Given the description of an element on the screen output the (x, y) to click on. 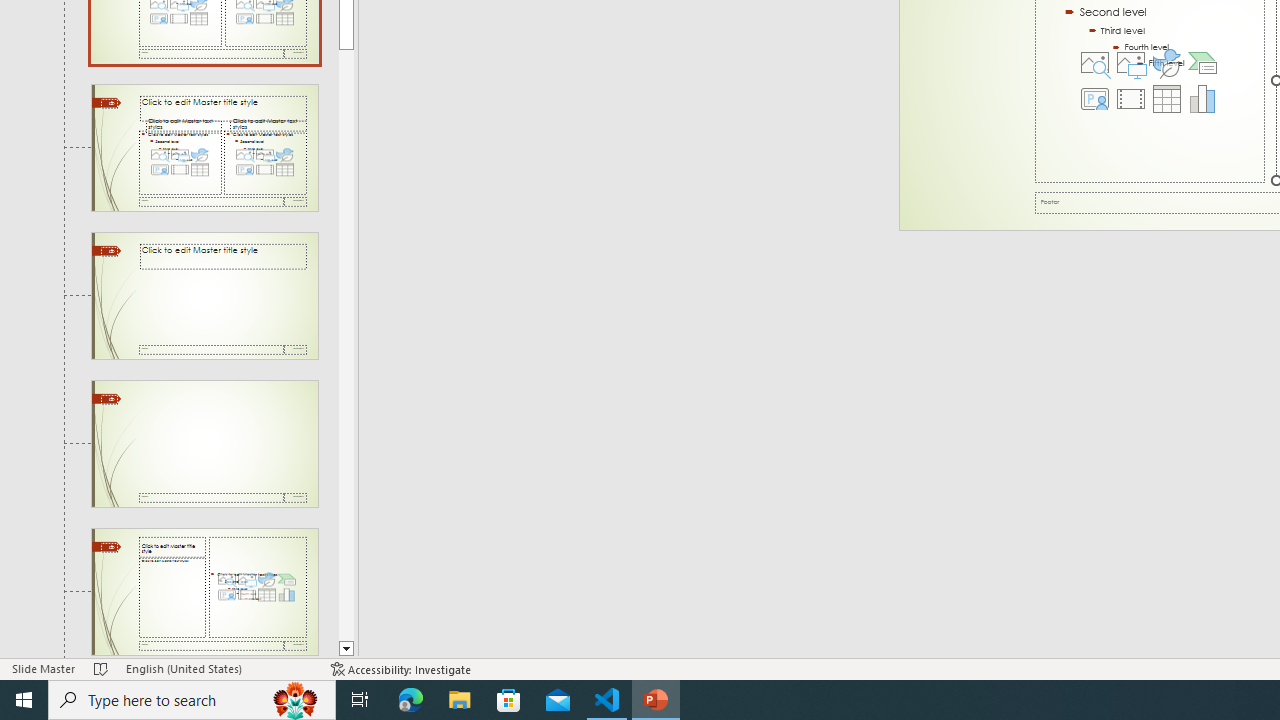
Insert Video (1130, 98)
